Given the description of an element on the screen output the (x, y) to click on. 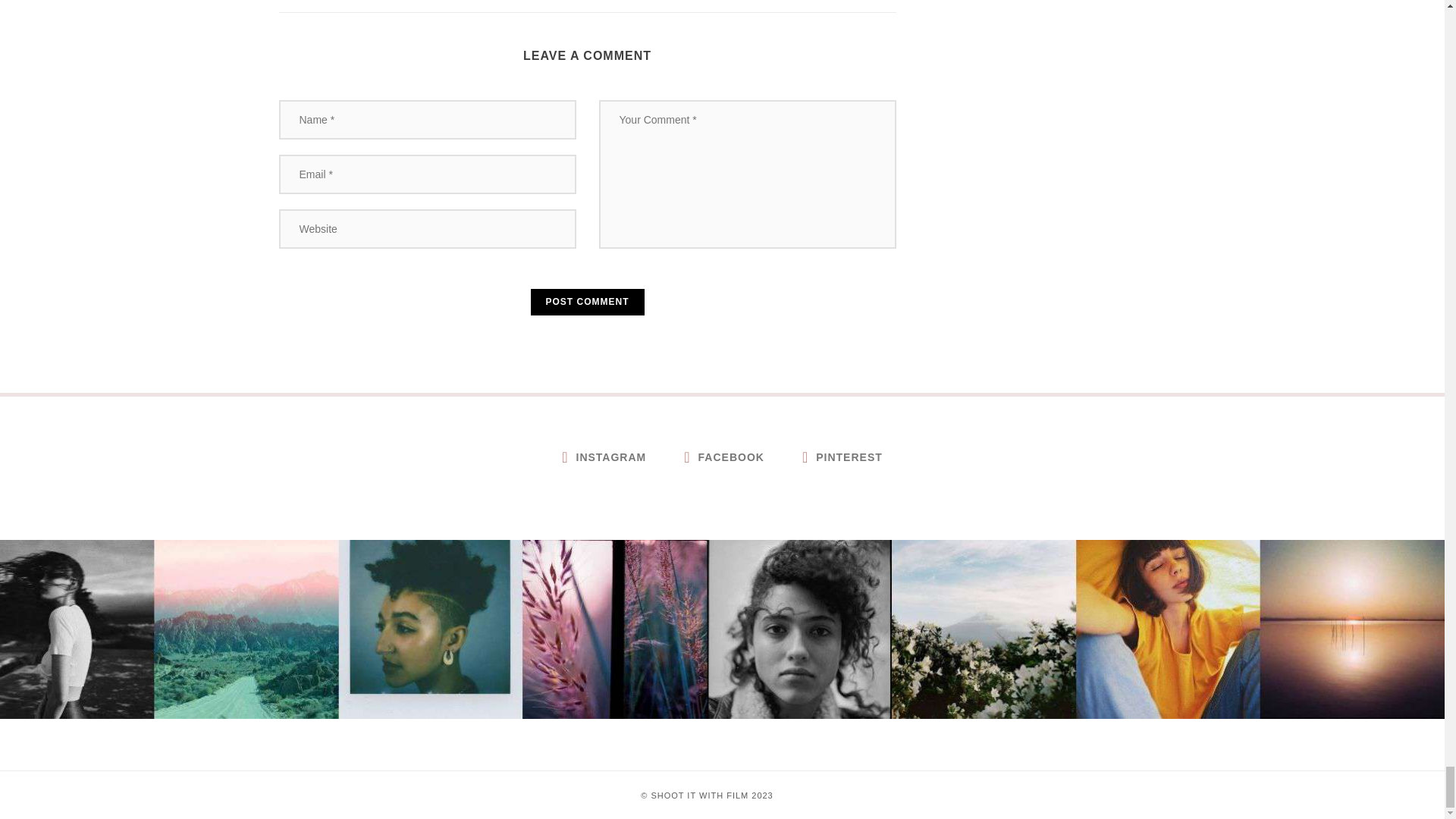
Post Comment (588, 302)
